Given the description of an element on the screen output the (x, y) to click on. 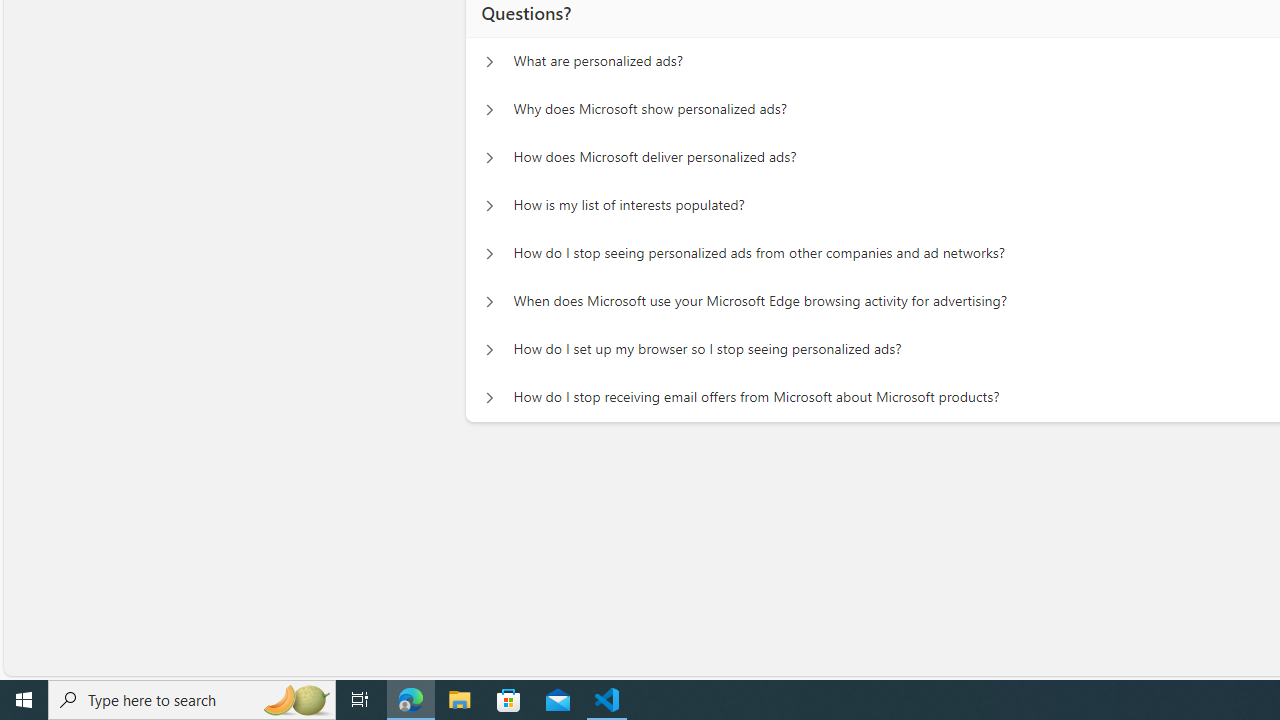
Questions? How does Microsoft deliver personalized ads? (489, 157)
Questions? How is my list of interests populated? (489, 206)
Questions? Why does Microsoft show personalized ads? (489, 110)
Questions? What are personalized ads? (489, 62)
